Given the description of an element on the screen output the (x, y) to click on. 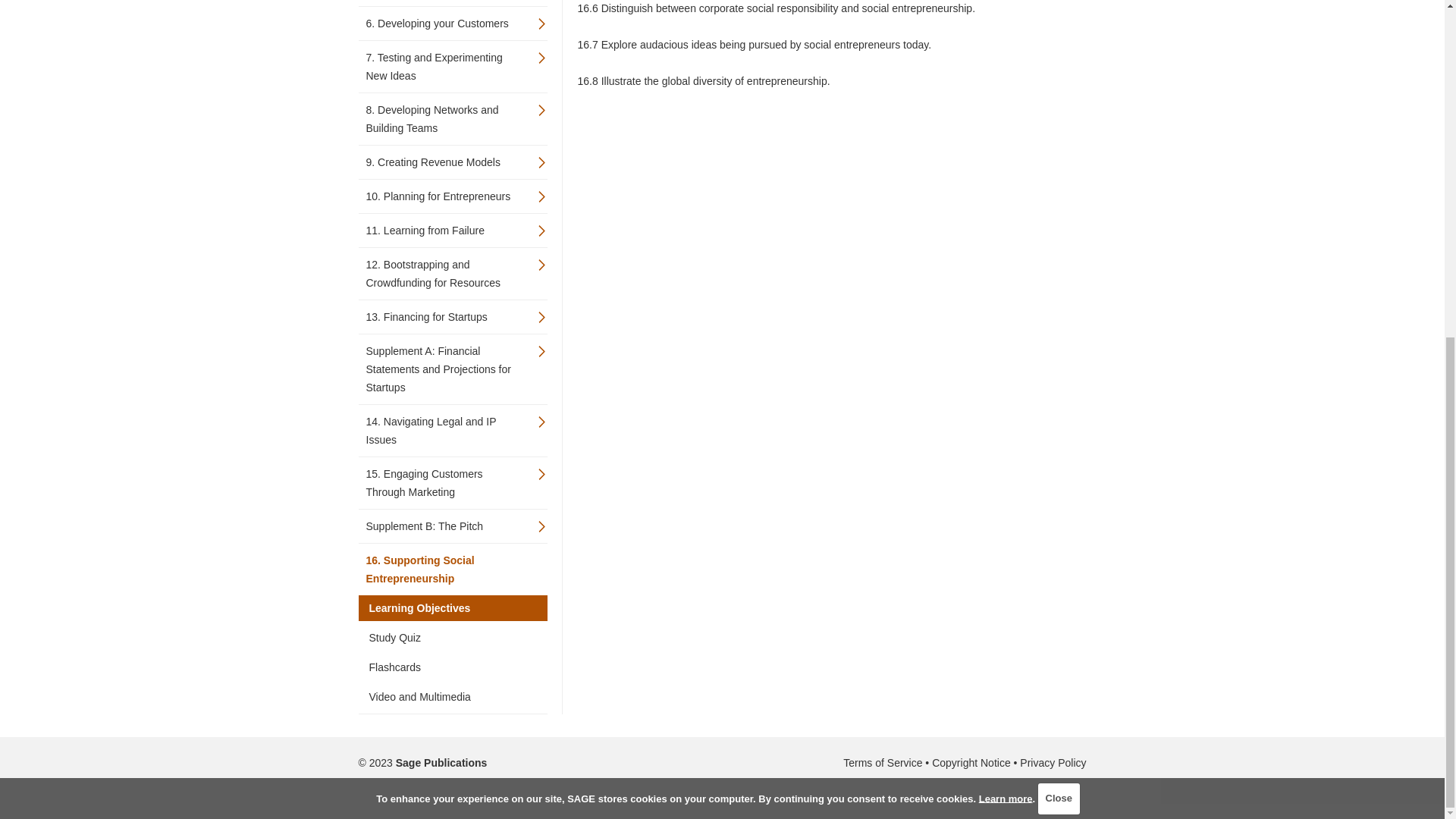
5. Building Business Models (444, 1)
Learn more (1005, 229)
